Given the description of an element on the screen output the (x, y) to click on. 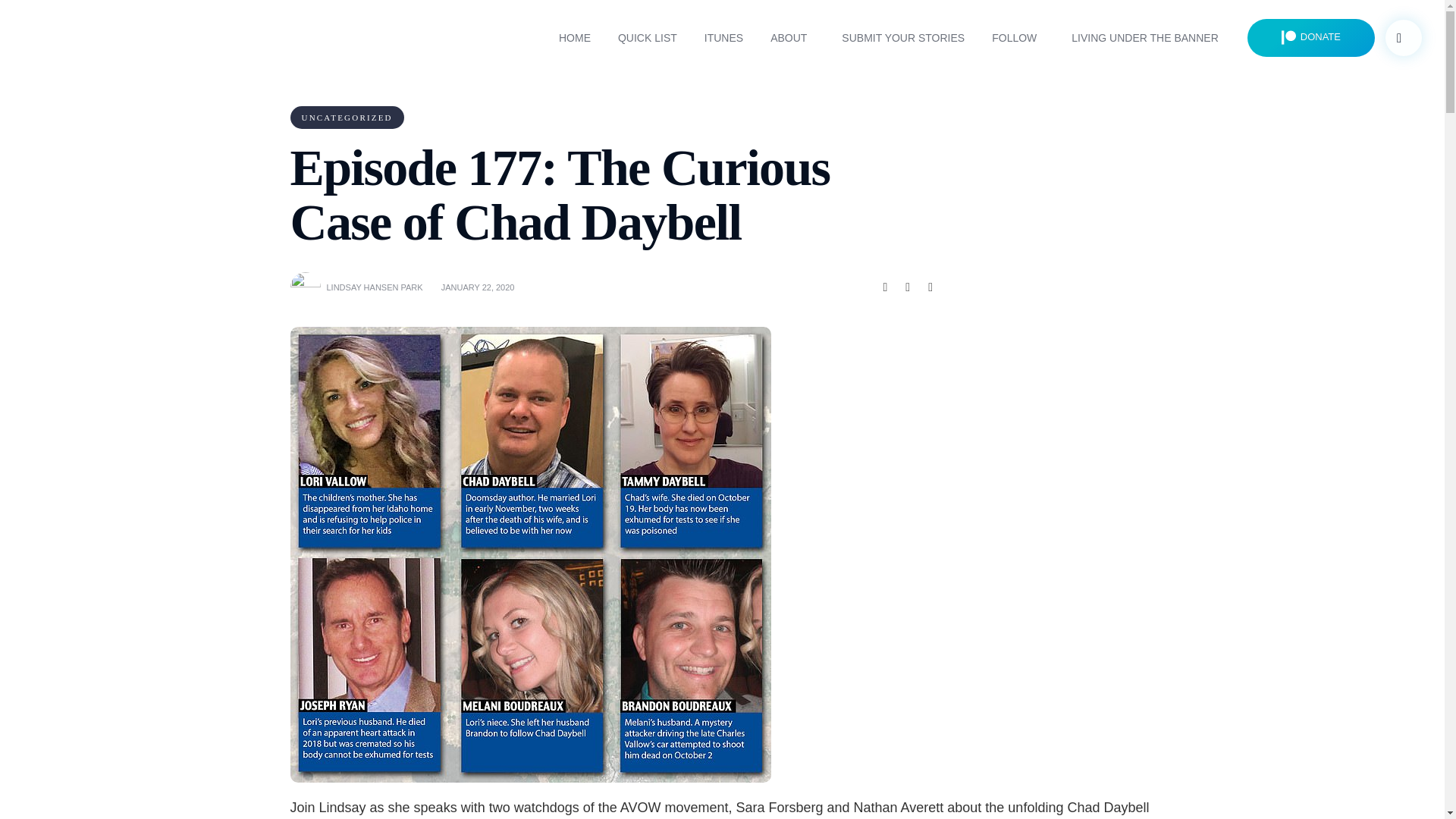
UNCATEGORIZED (346, 117)
QUICK LIST (647, 37)
DONATE (1310, 37)
FOLLOW (1018, 37)
LINDSAY HANSEN PARK (374, 287)
ABOUT (792, 37)
LIVING UNDER THE BANNER (1144, 37)
SUBMIT YOUR STORIES (903, 37)
HOME (574, 37)
ITUNES (723, 37)
